Given the description of an element on the screen output the (x, y) to click on. 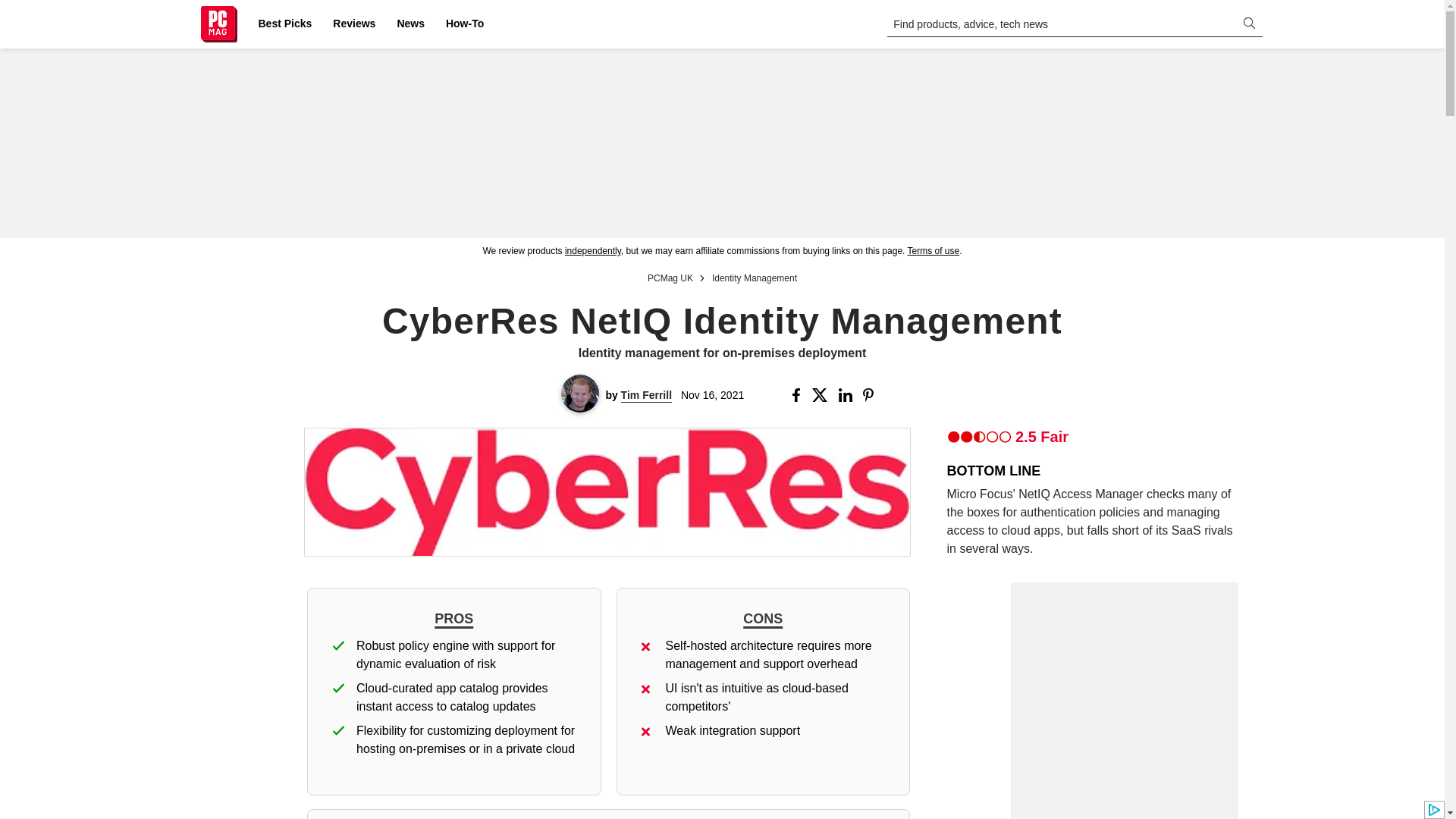
Share this Story on X (822, 395)
Share this Story on Facebook (799, 395)
Share this Story on Linkedin (847, 395)
Share this Story on Pinterest (873, 395)
3rd party ad content (721, 142)
Best Picks (284, 24)
3rd party ad content (1123, 677)
3rd party ad content (1123, 795)
